Given the description of an element on the screen output the (x, y) to click on. 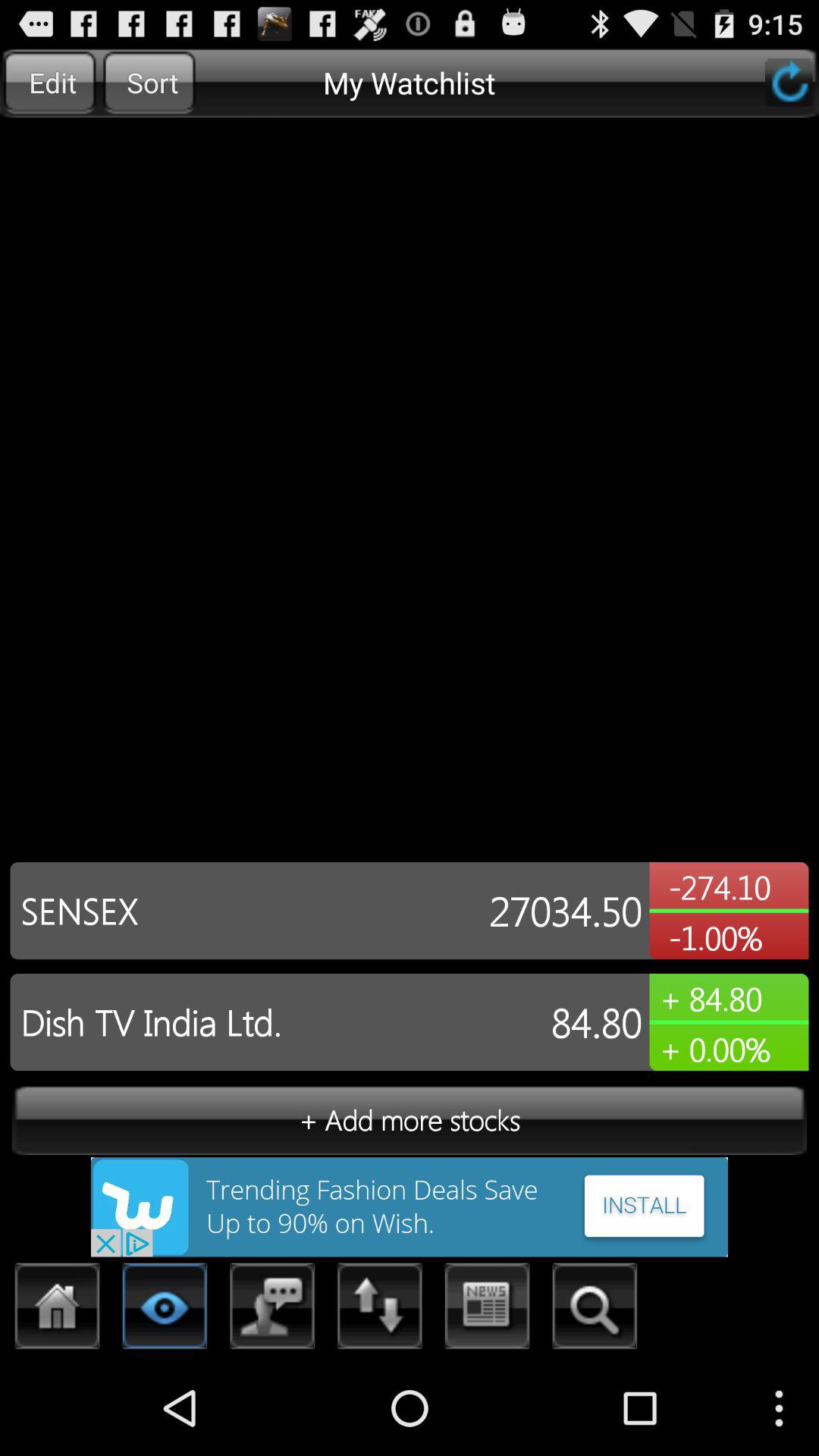
view list (164, 1310)
